Given the description of an element on the screen output the (x, y) to click on. 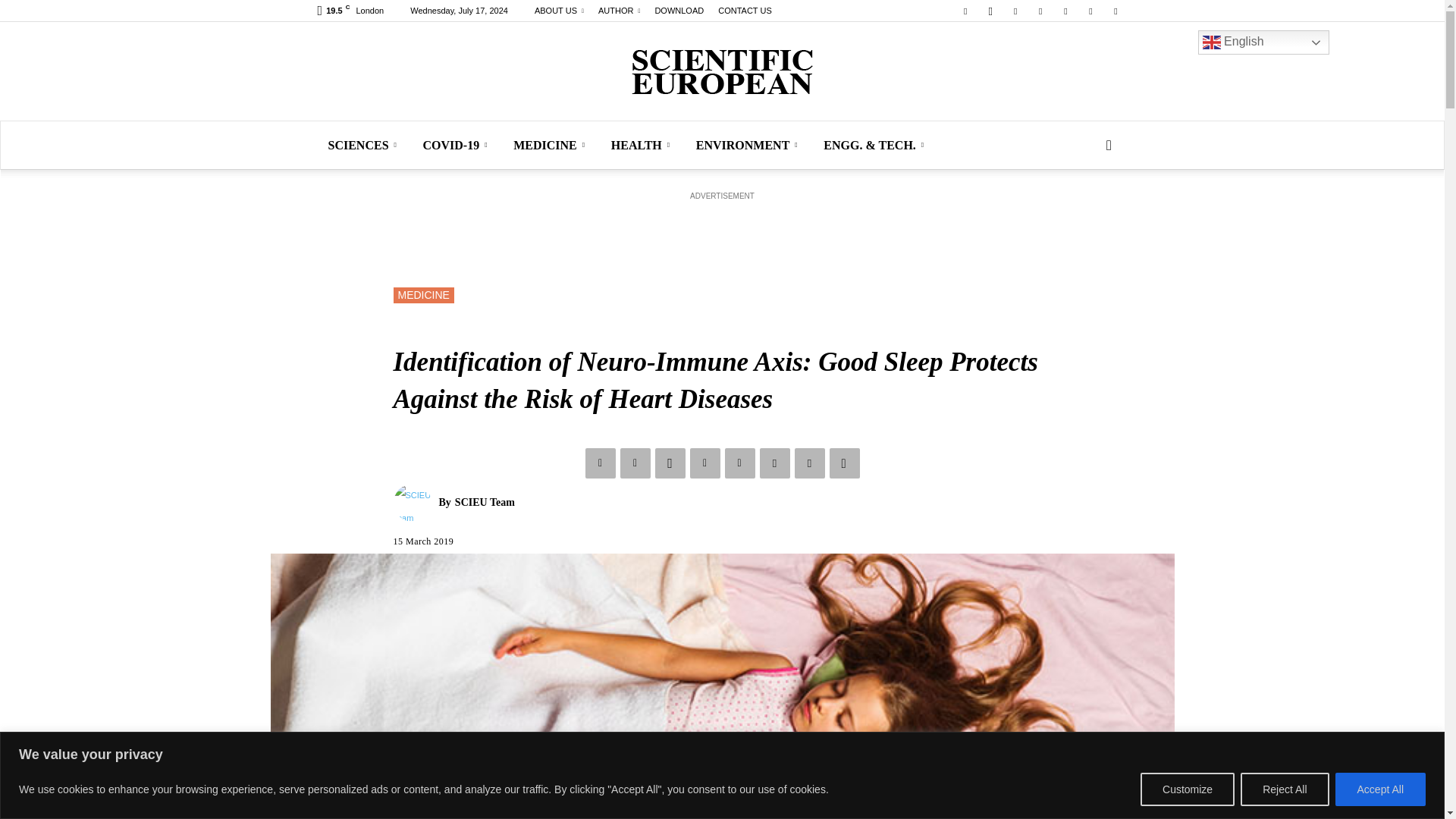
Facebook (964, 10)
ABOUT US (558, 10)
Linkedin (1015, 10)
WhatsApp (1090, 10)
Reject All (1283, 788)
Accept All (1380, 788)
Instagram (989, 10)
Twitter (1065, 10)
RSS (1040, 10)
Customize (1187, 788)
Youtube (1114, 10)
